Given the description of an element on the screen output the (x, y) to click on. 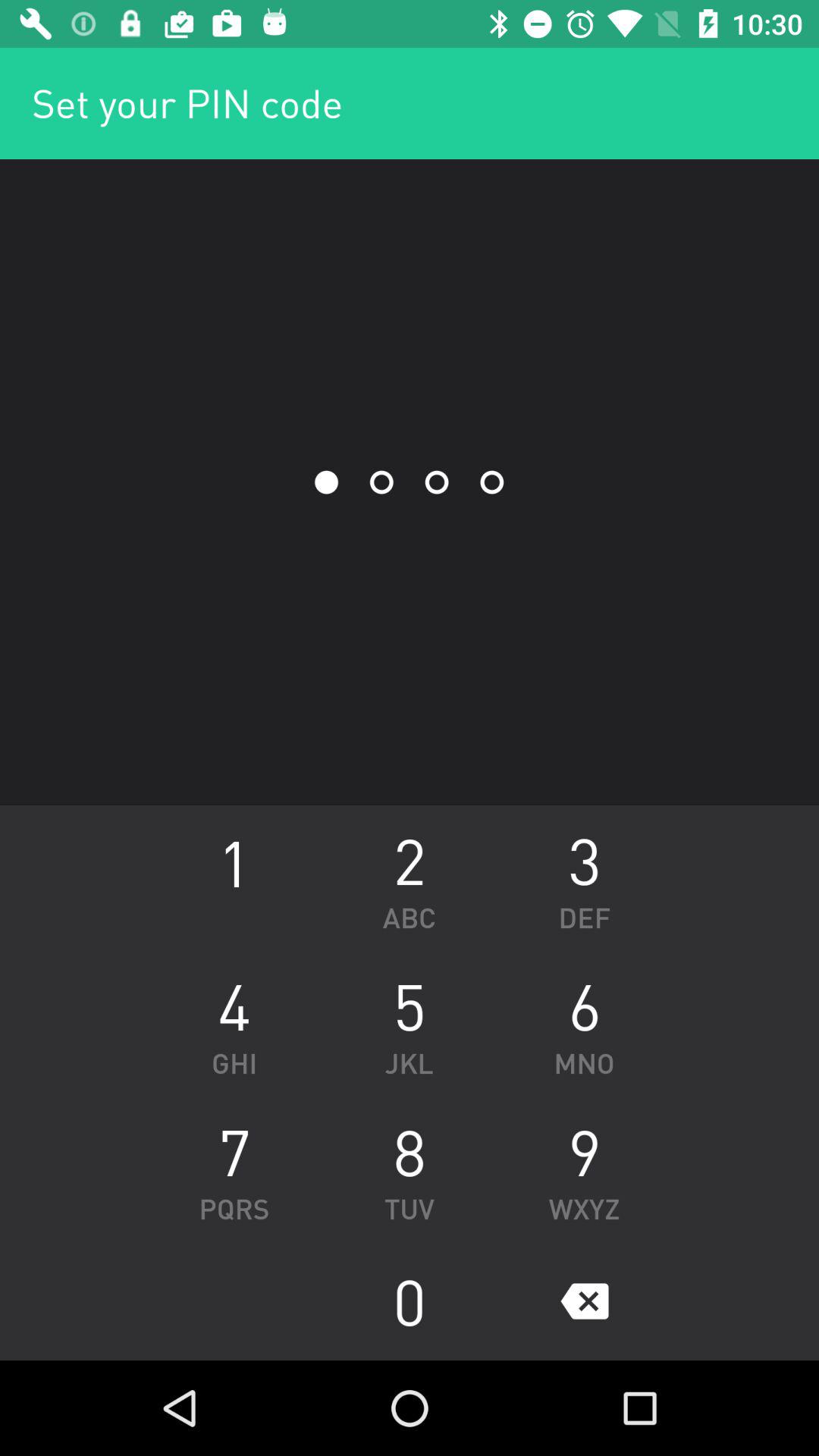
tap 1 on the left (233, 877)
